Given the description of an element on the screen output the (x, y) to click on. 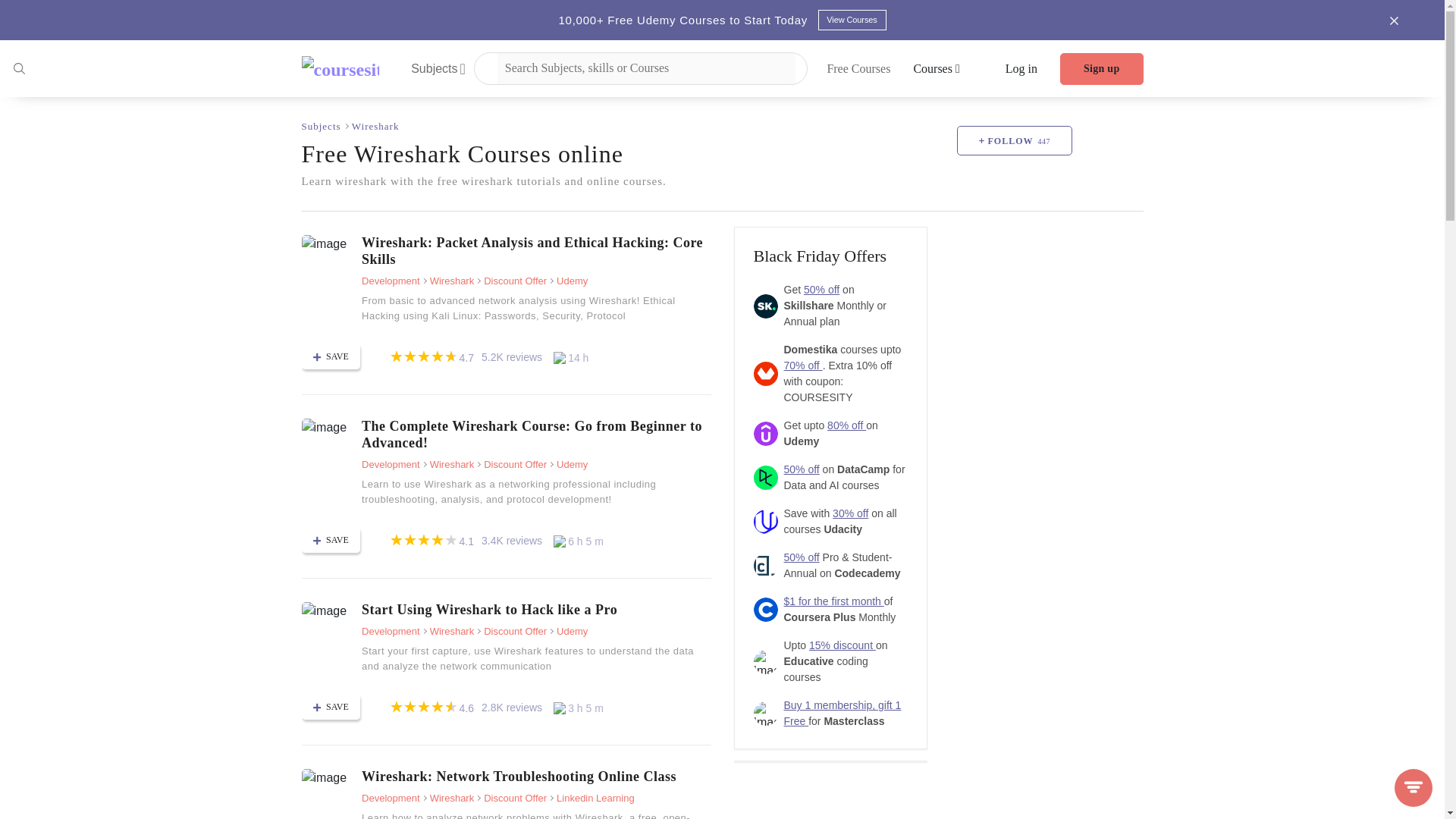
Wireshark (375, 125)
Subjects (322, 125)
Wireshark: Packet Analysis and Ethical Hacking: Core Skills (535, 250)
Sign up (1100, 69)
The Complete Wireshark Course: Go from Beginner to Advanced! (324, 427)
Subjects (438, 68)
Free Courses (858, 68)
Development (390, 280)
Wireshark: Network Troubleshooting Online Class  (535, 776)
Udemy (568, 280)
Courses (935, 68)
Development (390, 631)
Start Using Wireshark to Hack like a Pro (324, 610)
Wireshark (448, 631)
Wireshark: Packet Analysis and Ethical Hacking: Core Skills (535, 250)
